Given the description of an element on the screen output the (x, y) to click on. 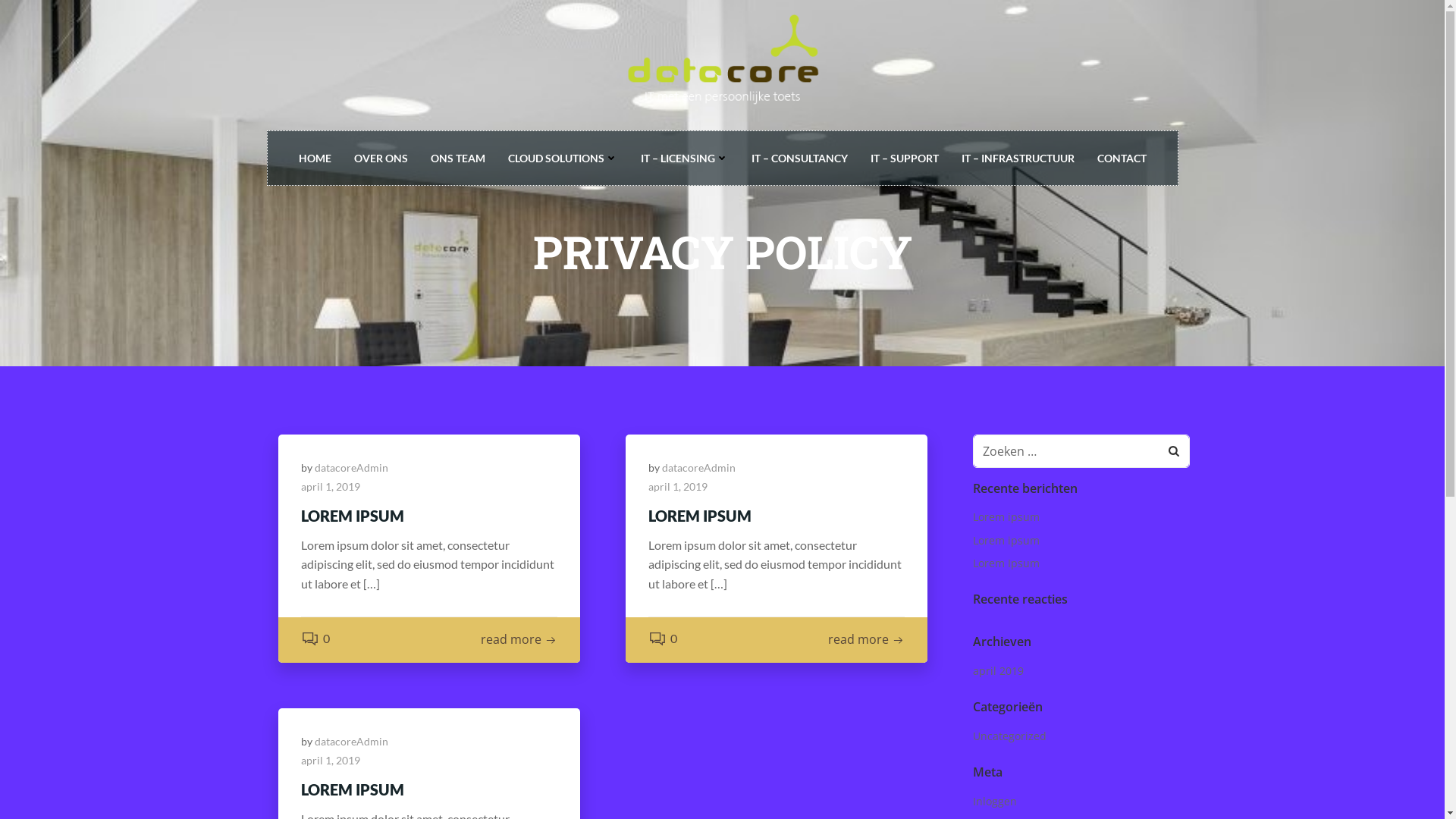
Uncategorized Element type: text (1009, 735)
OVER ONS Element type: text (380, 158)
0 Element type: text (662, 637)
datacoreAdmin Element type: text (698, 467)
april 1, 2019 Element type: text (329, 759)
april 1, 2019 Element type: text (329, 486)
Lorem ipsum Element type: text (1005, 540)
datacoreAdmin Element type: text (350, 467)
HOME Element type: text (314, 158)
CLOUD SOLUTIONS Element type: text (563, 158)
Lorem ipsum Element type: text (1005, 516)
LOREM IPSUM Element type: text (428, 515)
0 Element type: text (314, 637)
read more Element type: text (866, 639)
read more Element type: text (518, 639)
Inloggen Element type: text (994, 800)
datacoreAdmin Element type: text (350, 740)
Zoeken  Element type: text (31, 15)
CONTACT Element type: text (1120, 158)
ONS TEAM Element type: text (457, 158)
april 2019 Element type: text (997, 670)
LOREM IPSUM Element type: text (428, 789)
april 1, 2019 Element type: text (677, 486)
LOREM IPSUM Element type: text (776, 515)
Lorem Ipsum Element type: text (1005, 562)
